Given the description of an element on the screen output the (x, y) to click on. 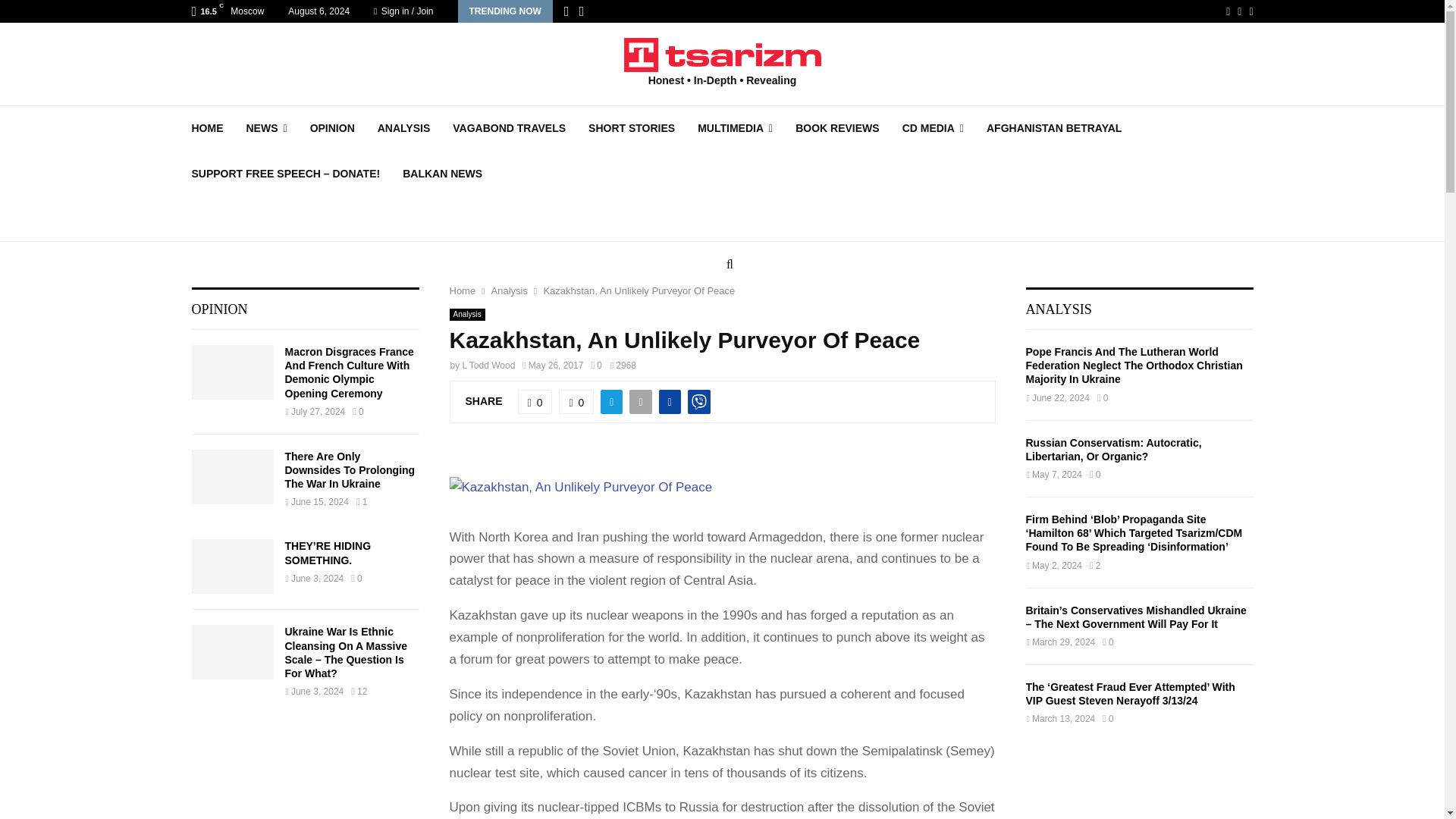
Login to your account (722, 293)
NEWS (266, 127)
Sign up new account (722, 415)
Like (535, 401)
